Given the description of an element on the screen output the (x, y) to click on. 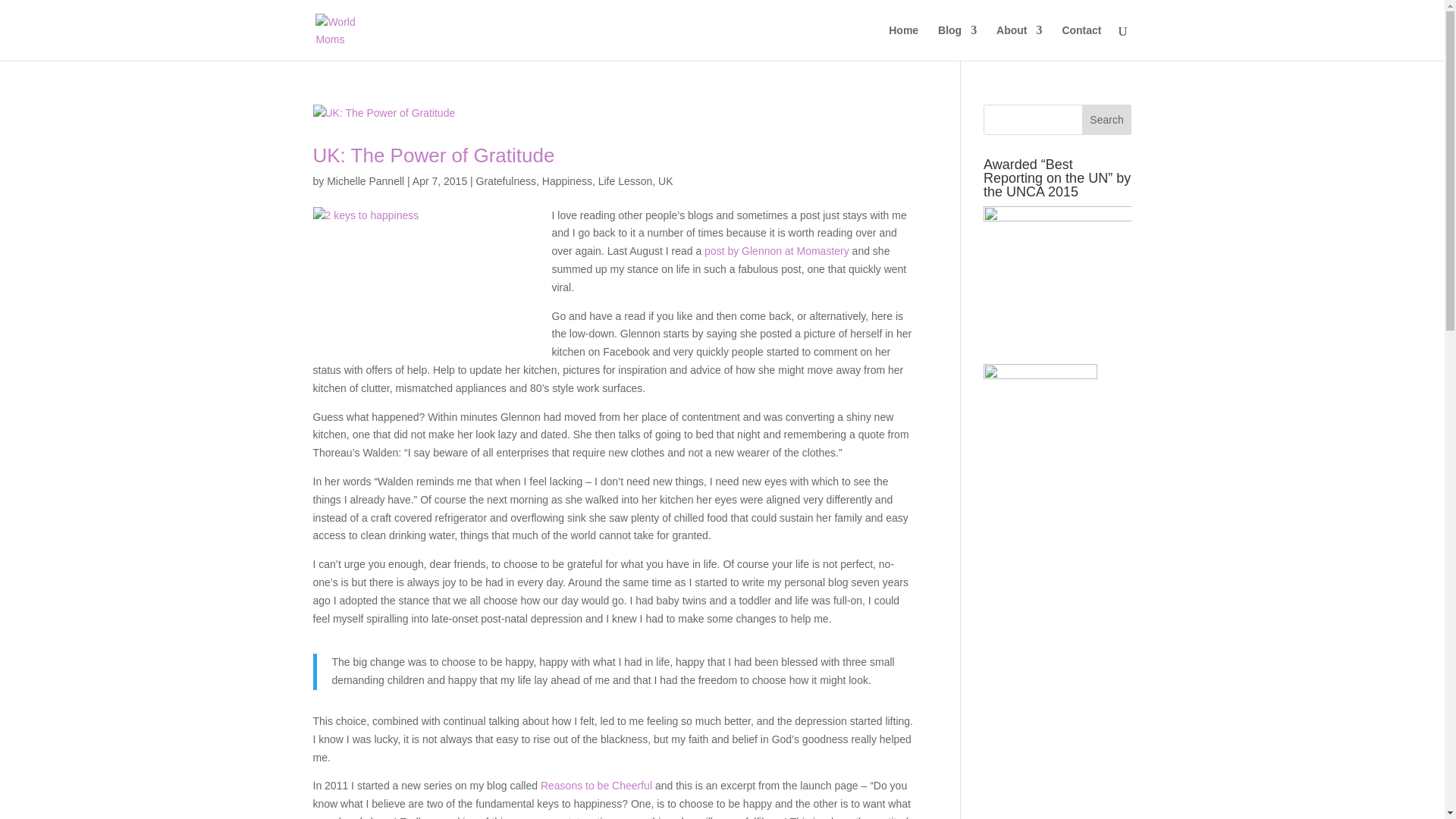
post by Glennon at Momastery (776, 250)
Contact (1080, 42)
Michelle Pannell (365, 181)
Posts by Michelle Pannell (365, 181)
UK: The Power of Gratitude (433, 155)
UK (665, 181)
Blog (956, 42)
Life Lesson (625, 181)
Search (1106, 119)
Gratefulness (505, 181)
Home (903, 42)
About (1018, 42)
Reasons to be Cheerful (596, 785)
Happiness (566, 181)
